Given the description of an element on the screen output the (x, y) to click on. 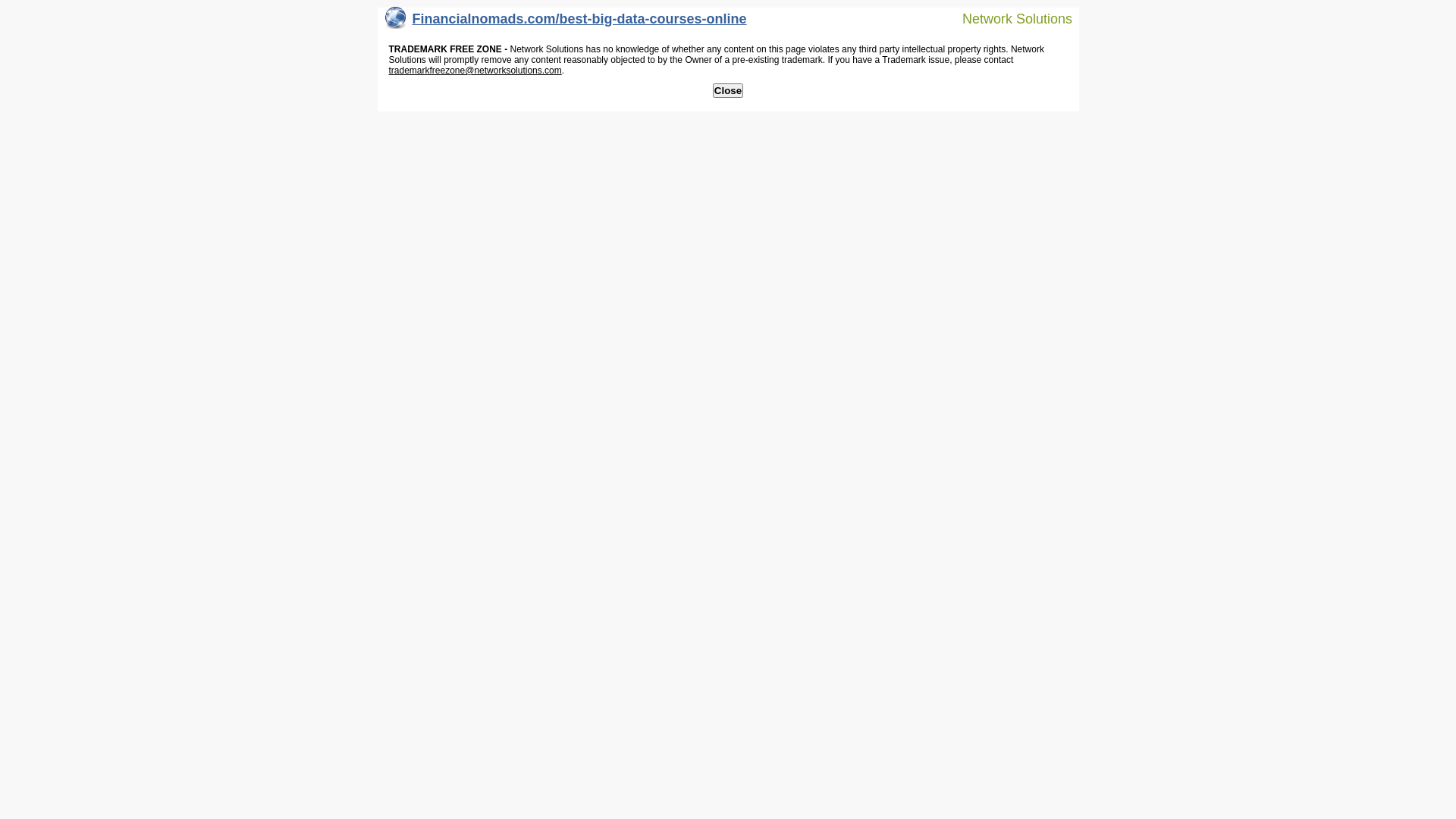
Network Solutions Element type: text (1007, 17)
Financialnomads.com/best-big-data-courses-online Element type: text (565, 21)
trademarkfreezone@networksolutions.com Element type: text (474, 70)
Close Element type: text (727, 90)
